Given the description of an element on the screen output the (x, y) to click on. 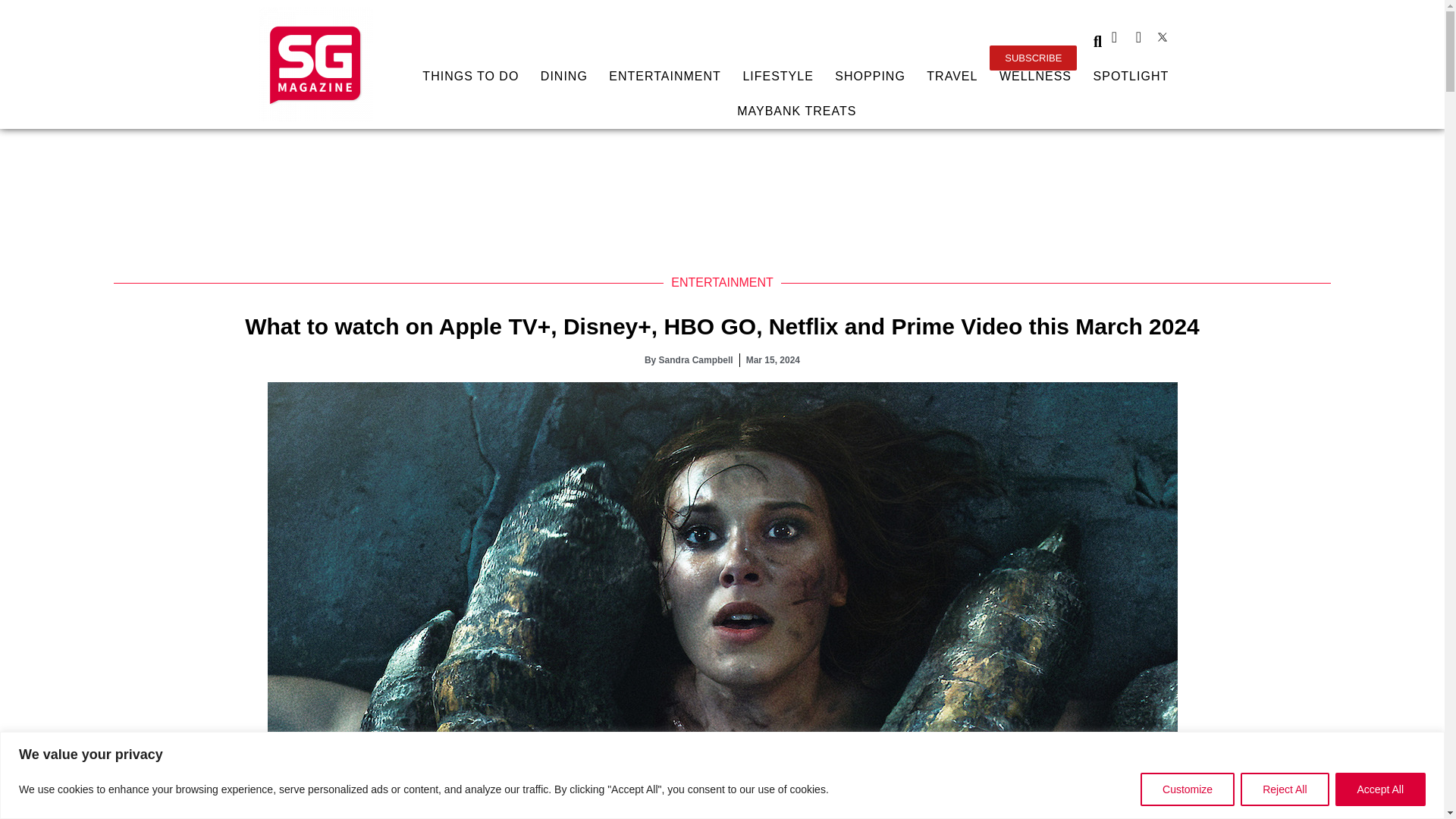
SUBSCRIBE (1033, 57)
DINING (563, 76)
Accept All (1380, 788)
LIFESTYLE (778, 76)
ENTERTAINMENT (664, 76)
SG MAG LOGO (315, 64)
SHOPPING (870, 76)
TRAVEL (952, 76)
THINGS TO DO (470, 76)
MAYBANK TREATS (796, 111)
Customize (1187, 788)
SPOTLIGHT (1130, 76)
Reject All (1283, 788)
WELLNESS (1035, 76)
